Given the description of an element on the screen output the (x, y) to click on. 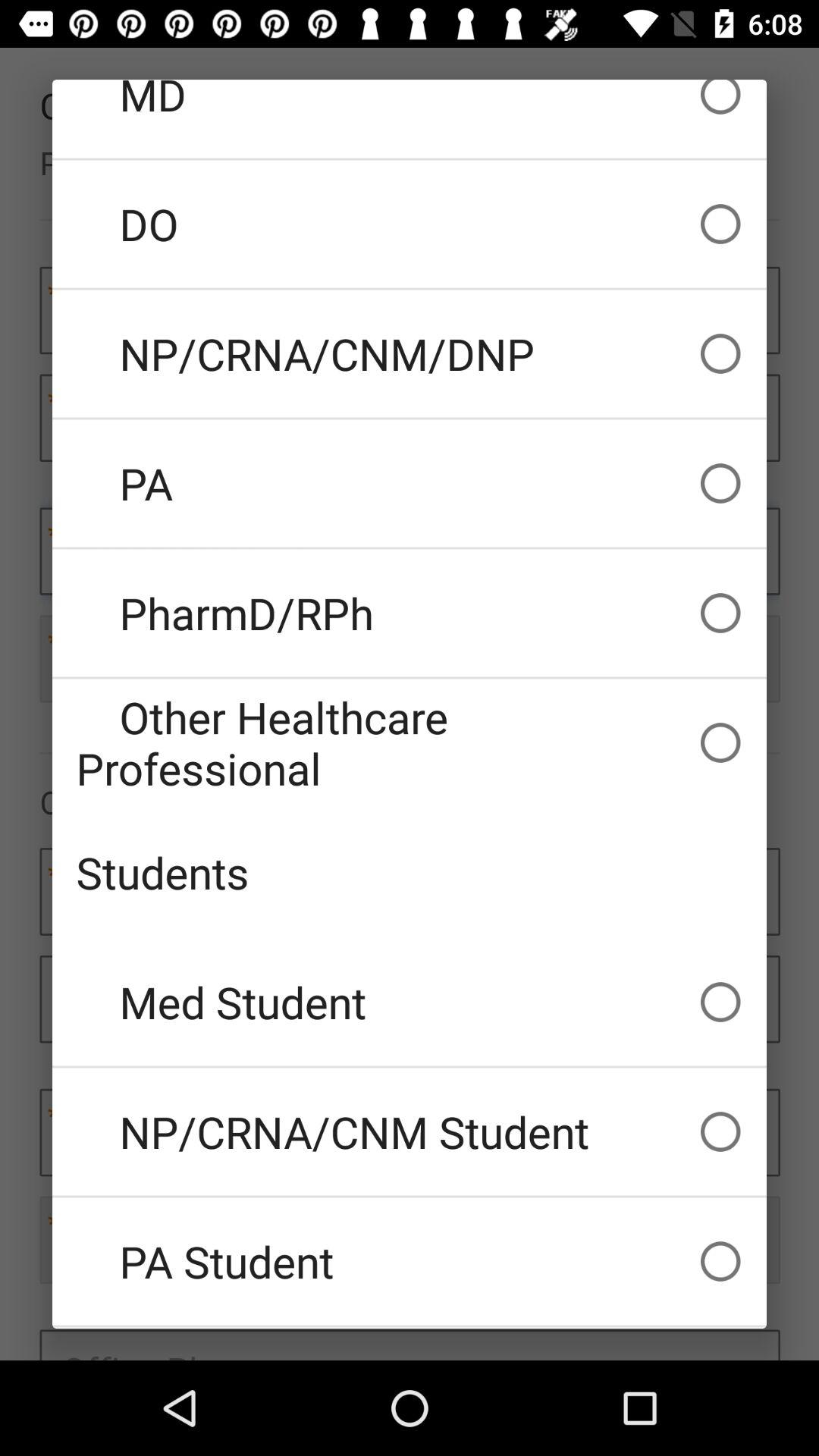
turn off icon above np crna cnm item (409, 223)
